Given the description of an element on the screen output the (x, y) to click on. 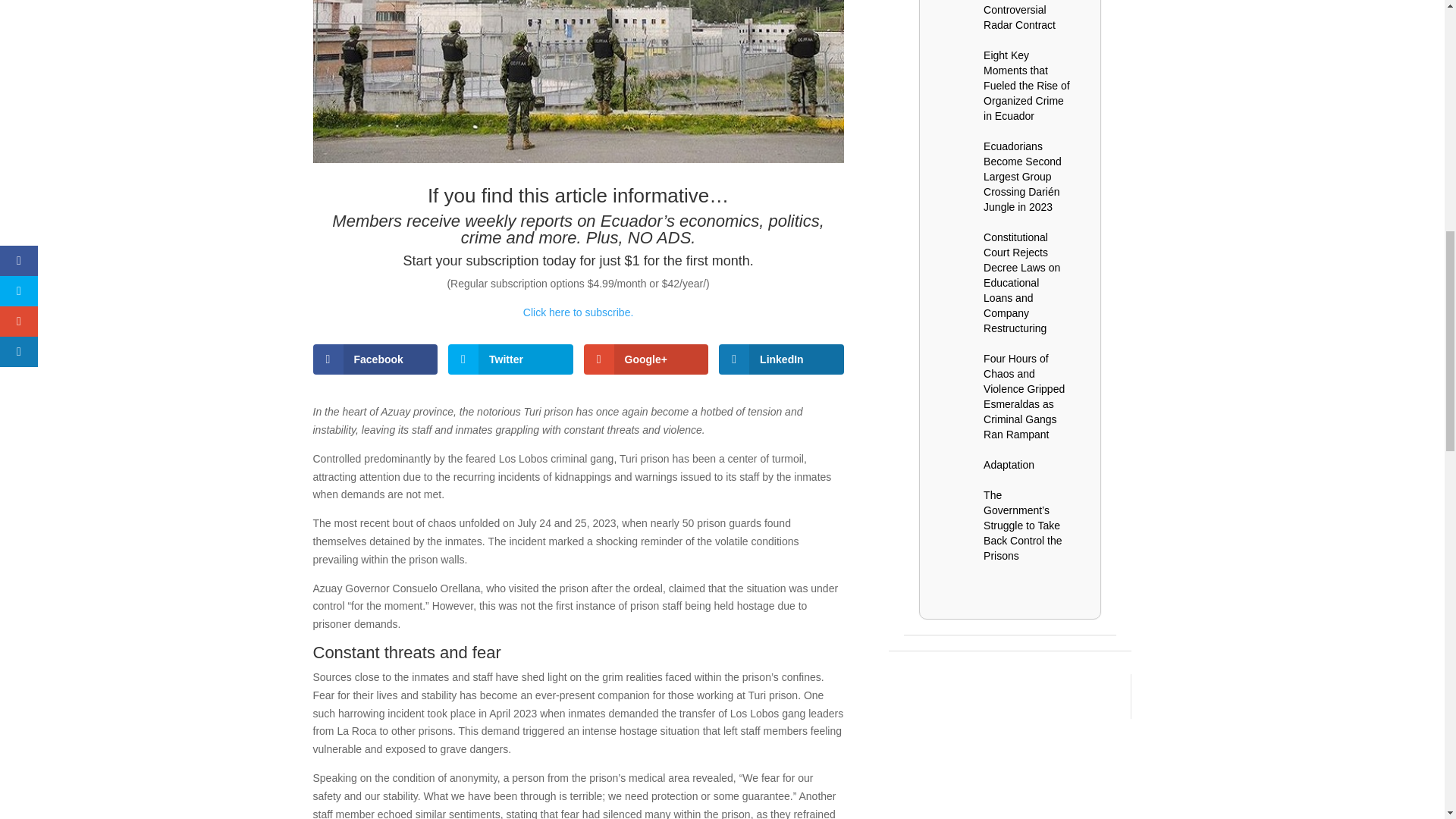
Click here to subscribe. (577, 312)
Twitter (510, 358)
Facebook (375, 358)
LinkedIn (781, 358)
Adaptation (1008, 464)
